Given the description of an element on the screen output the (x, y) to click on. 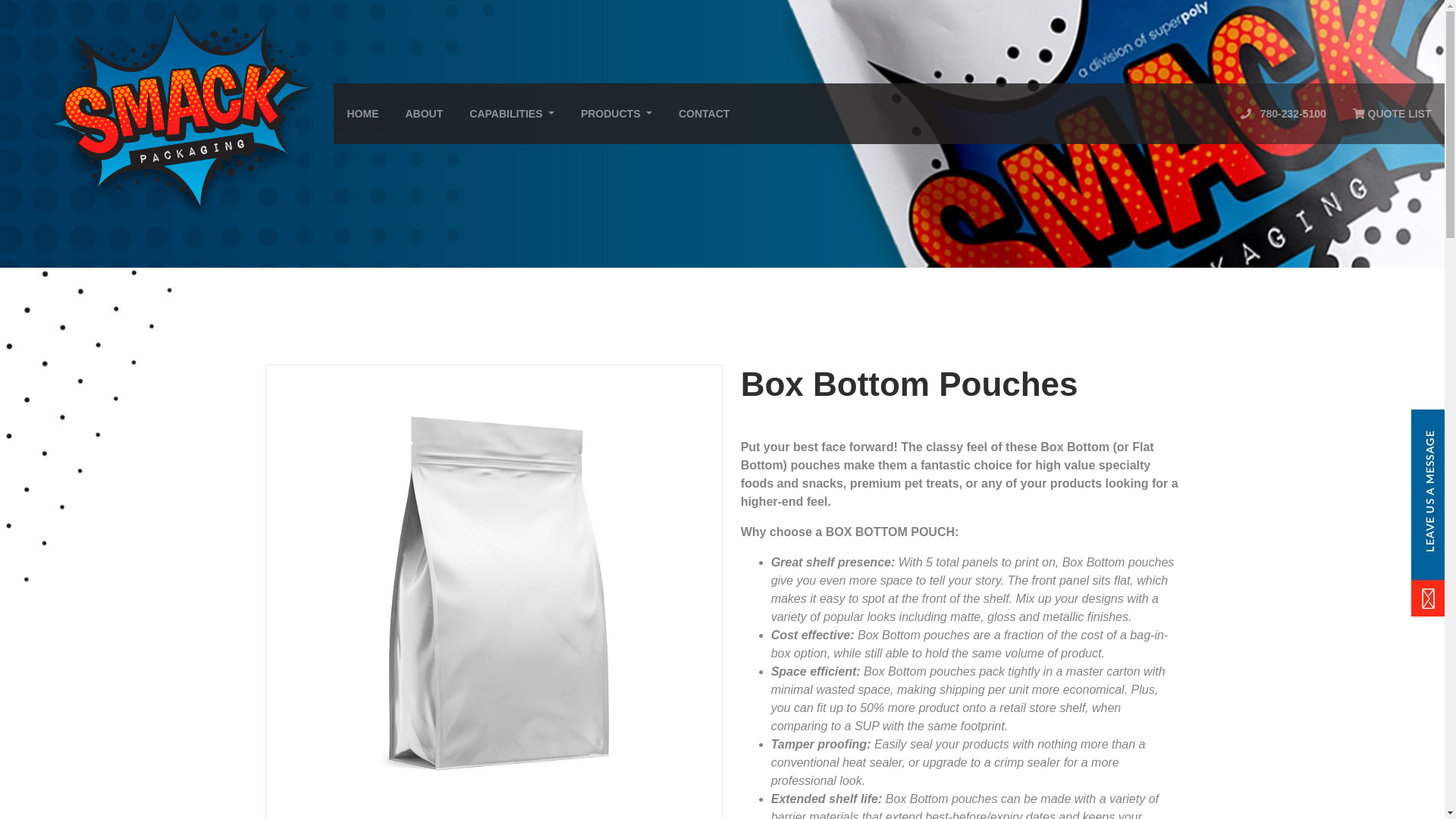
CAPABILITIES (512, 113)
HOME (362, 113)
PRODUCTS (616, 113)
ABOUT (424, 113)
Home (362, 113)
  780-232-5100 (1283, 113)
CONTACT (703, 113)
Products (616, 113)
About (424, 113)
Capabilities (512, 113)
